Given the description of an element on the screen output the (x, y) to click on. 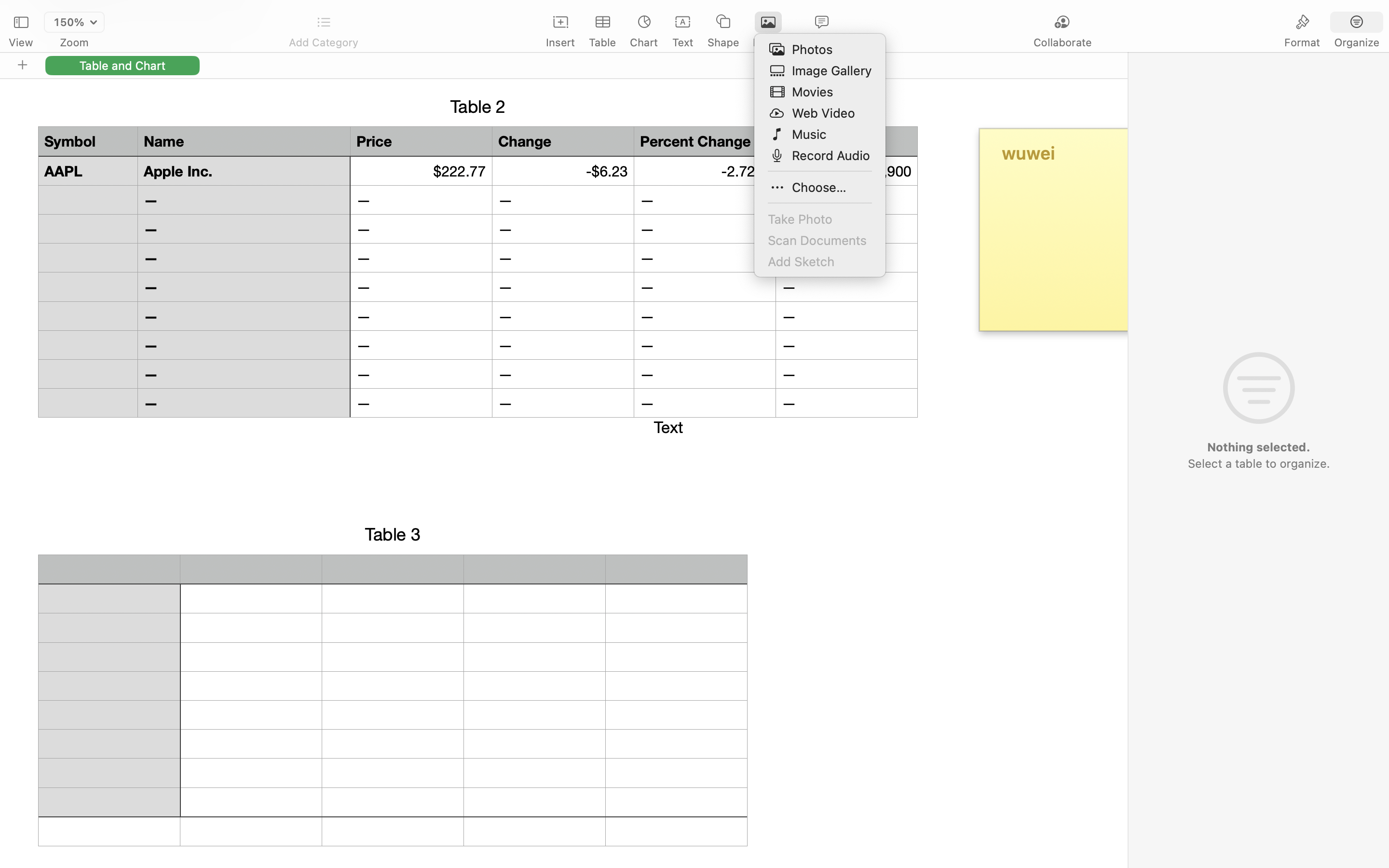
Add Category Element type: AXStaticText (322, 42)
<AXUIElement 0x17348a030> {pid=1420} Element type: AXGroup (1329, 22)
Table and Chart Element type: AXStaticText (122, 64)
Organize Element type: AXStaticText (1356, 42)
Untitled Element type: AXStaticText (667, 12)
